Given the description of an element on the screen output the (x, y) to click on. 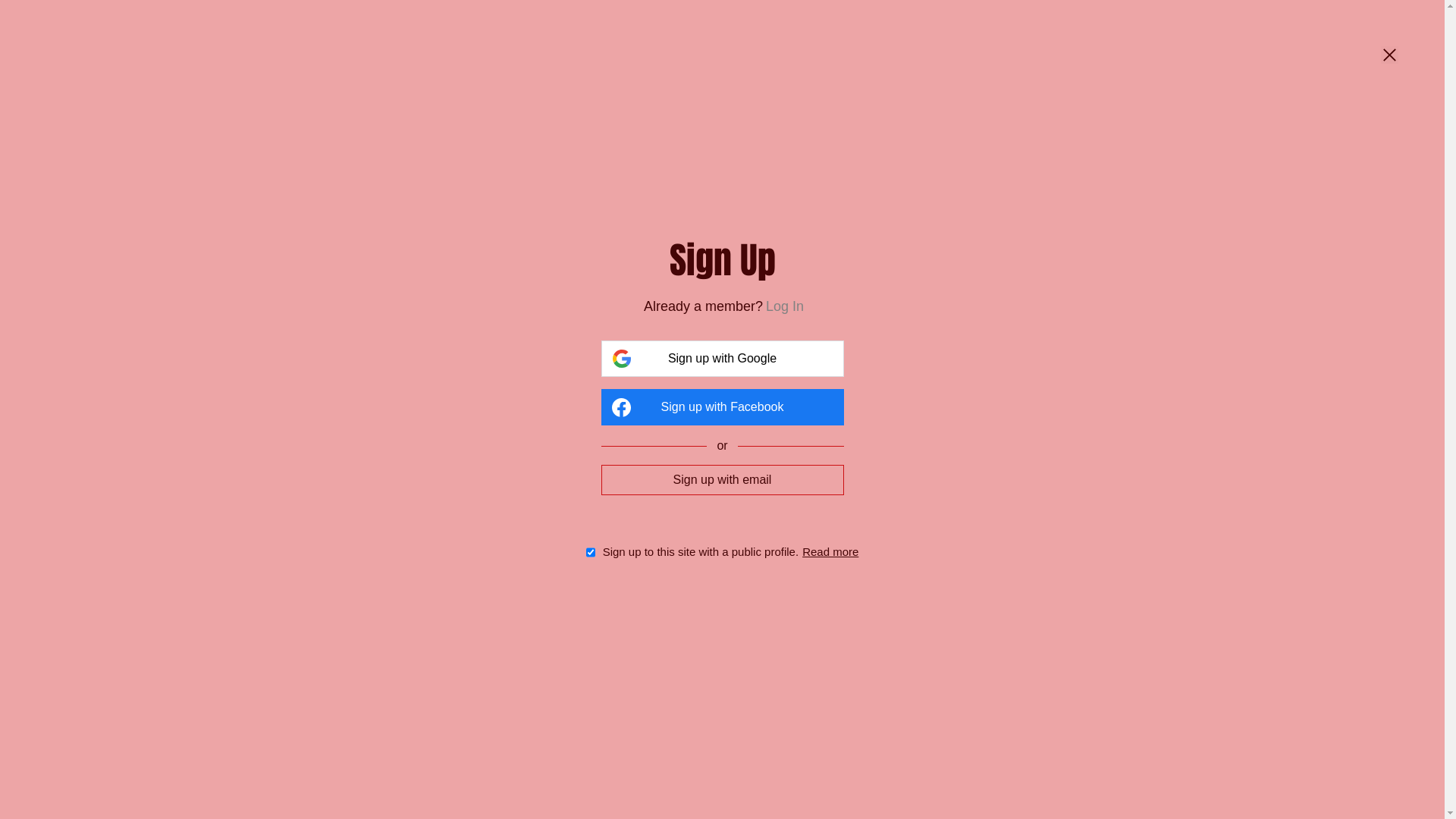
Sign up with email Element type: text (721, 479)
Read more Element type: text (830, 551)
Sign up with Facebook Element type: text (721, 407)
Sign up with Google Element type: text (721, 358)
Log In Element type: text (784, 306)
